Given the description of an element on the screen output the (x, y) to click on. 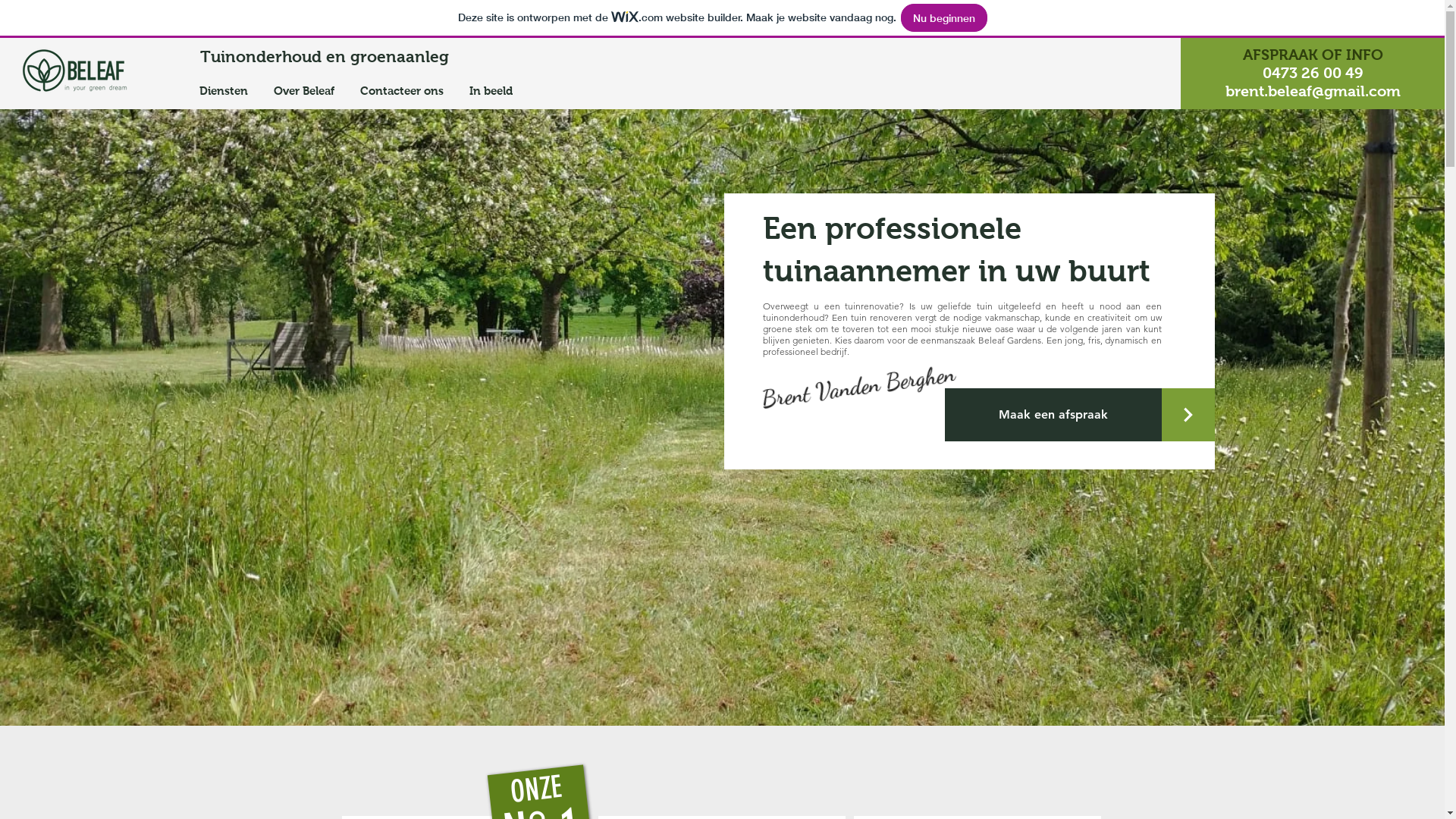
Tuinonderhoud en groenaanleg Element type: text (340, 56)
Over Beleaf Element type: text (305, 90)
Contacteer ons Element type: text (403, 90)
Maak een afspraak Element type: text (1052, 414)
brent.beleaf@gmail.com Element type: text (1312, 90)
Diensten Element type: text (225, 90)
In beeld Element type: text (492, 90)
Embedded Content Element type: hover (1058, 71)
